Given the description of an element on the screen output the (x, y) to click on. 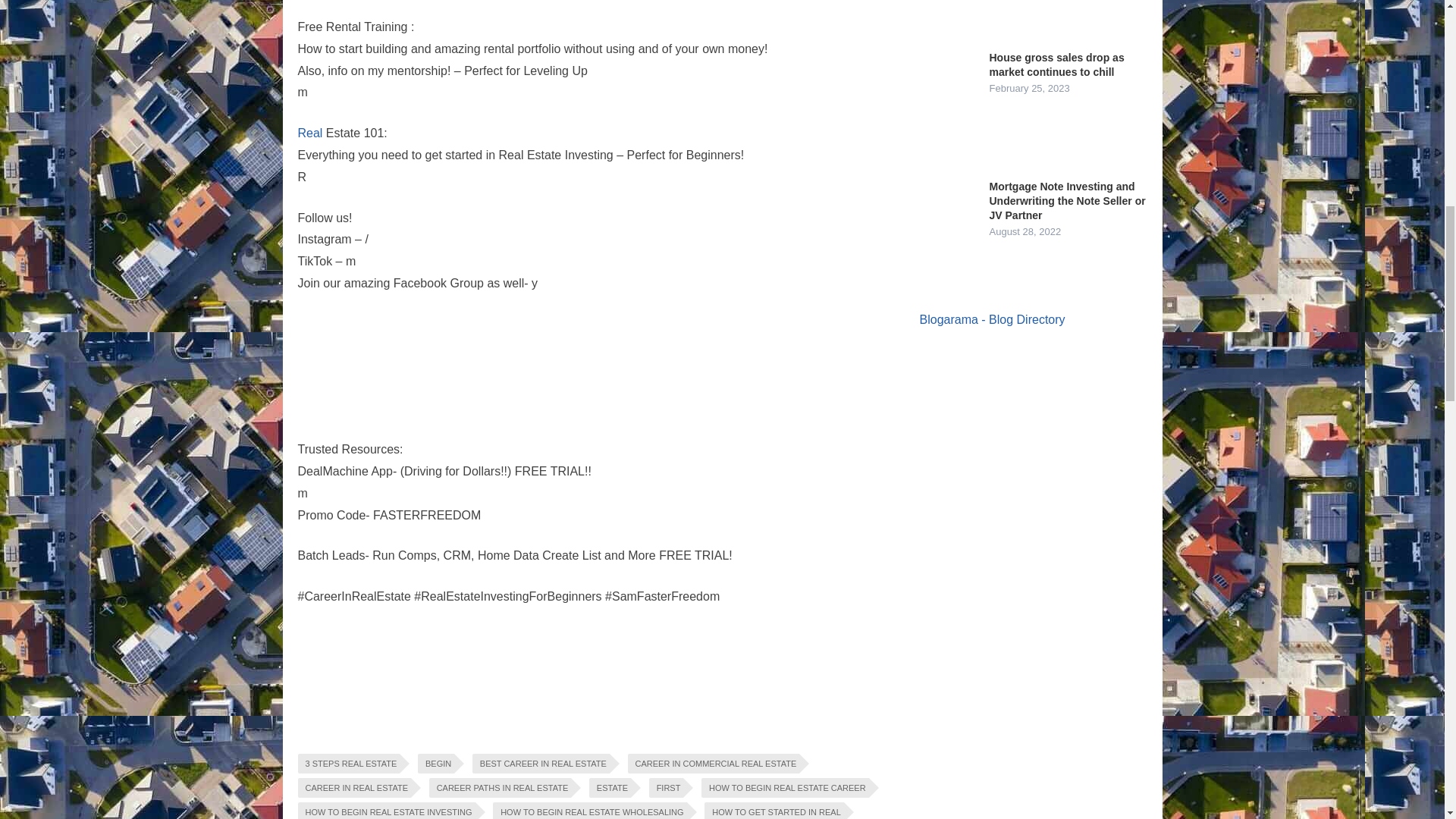
3 STEPS REAL ESTATE (347, 763)
Blogarama.com - Follow me on Blogarama (991, 318)
Posts tagged with real (309, 132)
Real (309, 132)
